Given the description of an element on the screen output the (x, y) to click on. 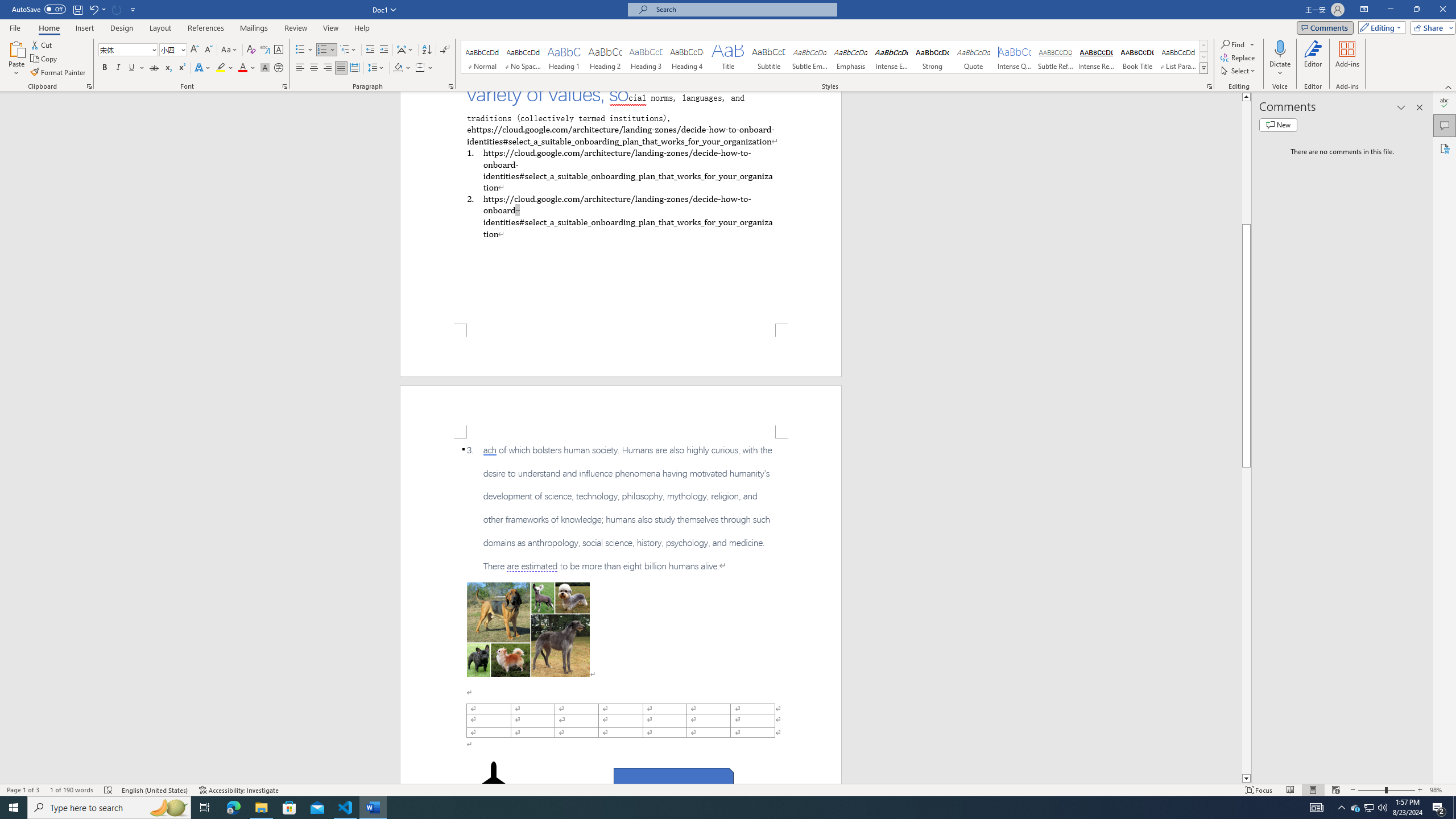
Paragraph... (450, 85)
Enclose Characters... (278, 67)
Phonetic Guide... (264, 49)
Text Effects and Typography (202, 67)
Select (1238, 69)
Undo Apply Quick Style (96, 9)
Text Highlight Color (224, 67)
